Given the description of an element on the screen output the (x, y) to click on. 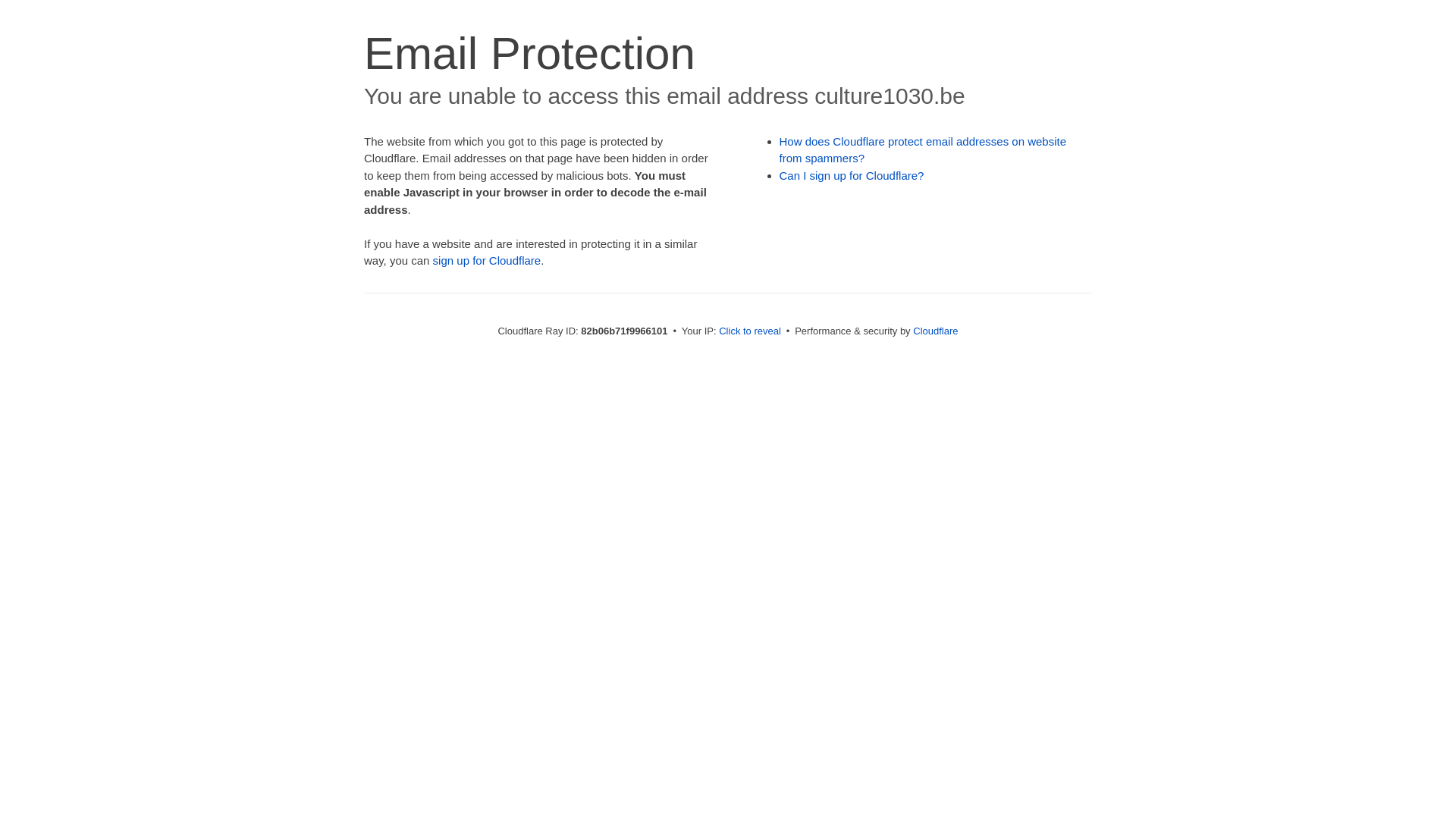
Cloudflare Element type: text (935, 330)
Can I sign up for Cloudflare? Element type: text (851, 175)
Click to reveal Element type: text (749, 330)
sign up for Cloudflare Element type: text (487, 260)
